Given the description of an element on the screen output the (x, y) to click on. 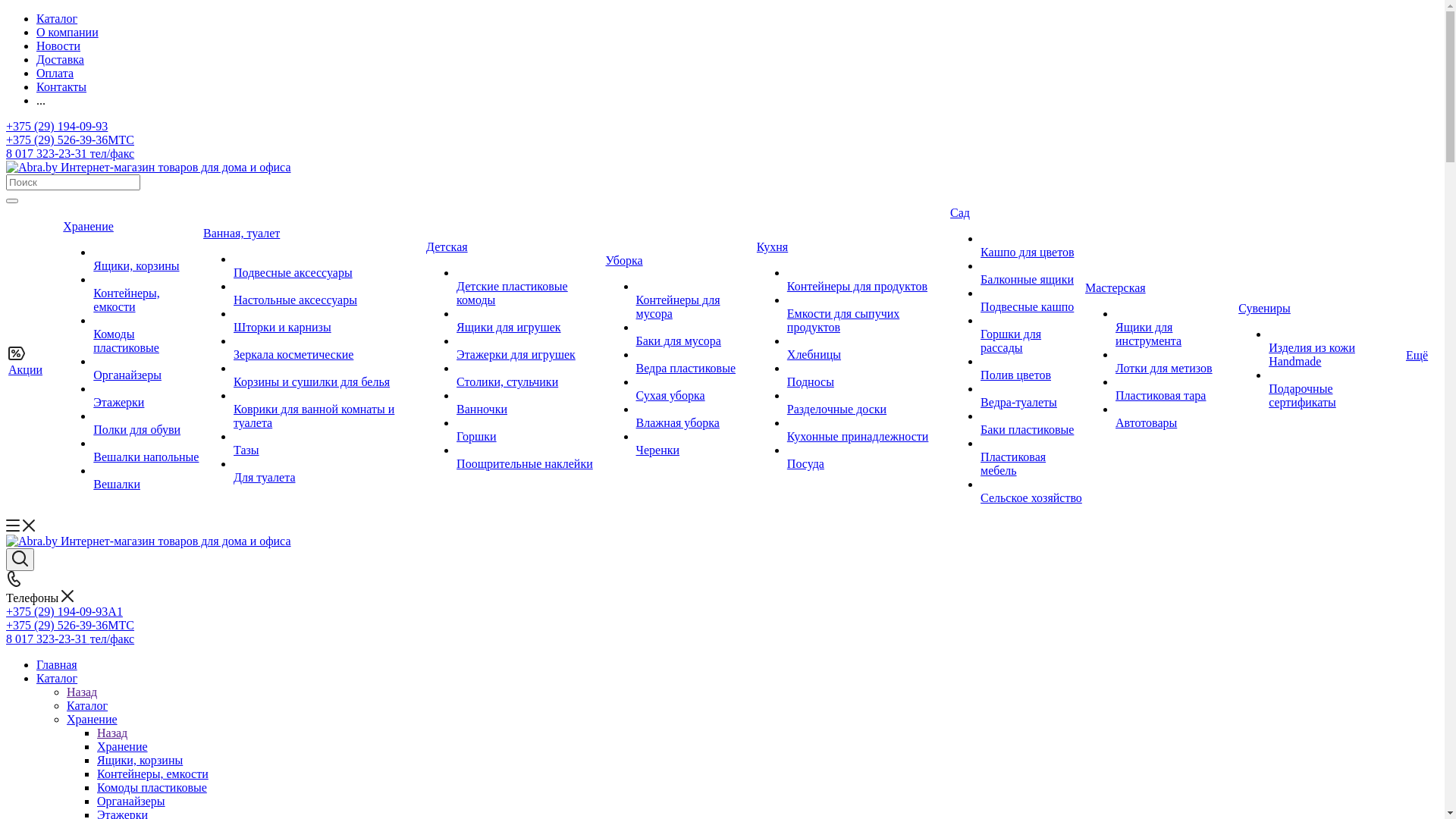
+375 (29) 194-09-93A1 Element type: text (64, 611)
+375 (29) 194-09-93 Element type: text (56, 125)
